Given the description of an element on the screen output the (x, y) to click on. 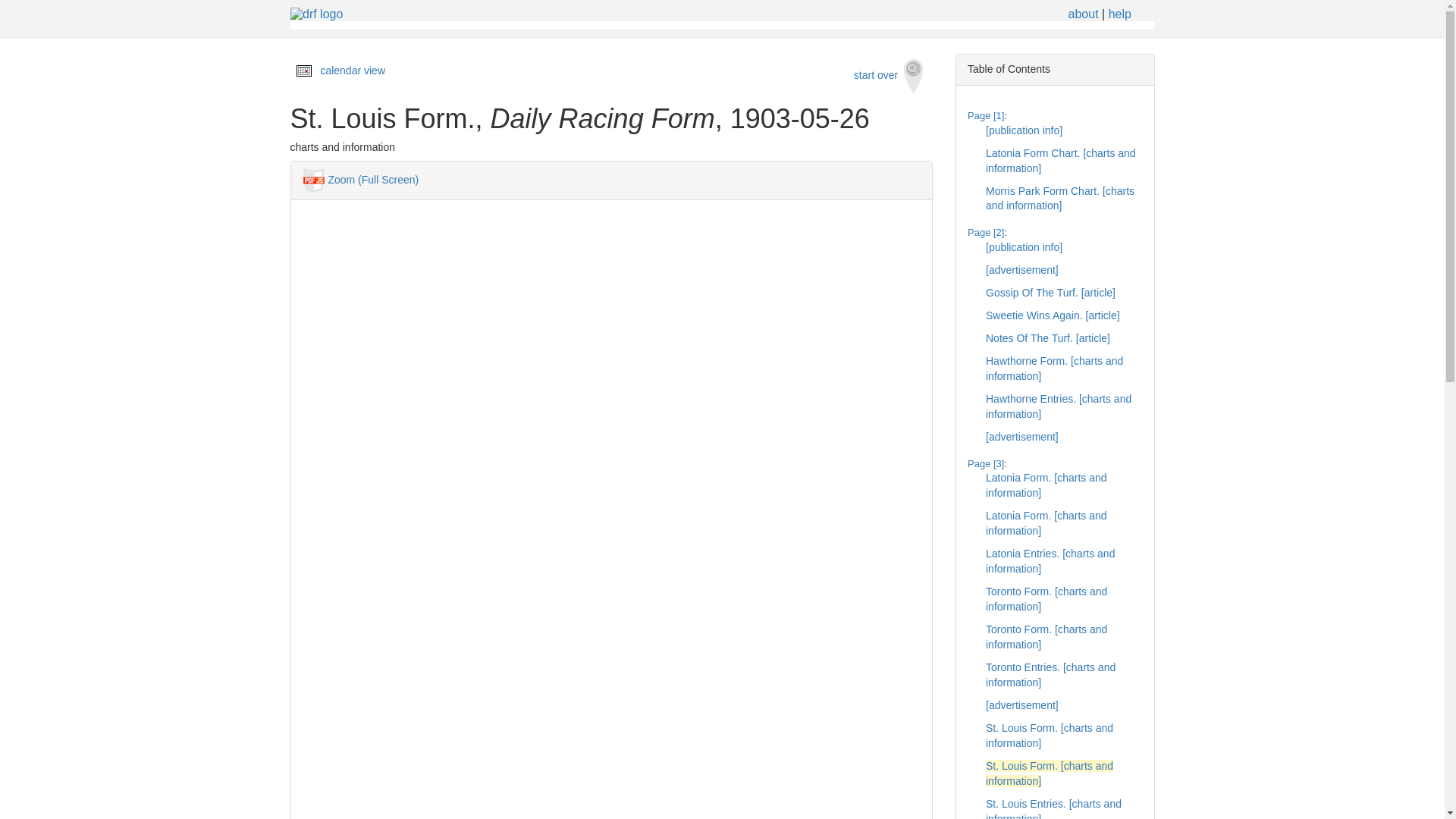
start over   (888, 76)
calendar view (352, 70)
